Given the description of an element on the screen output the (x, y) to click on. 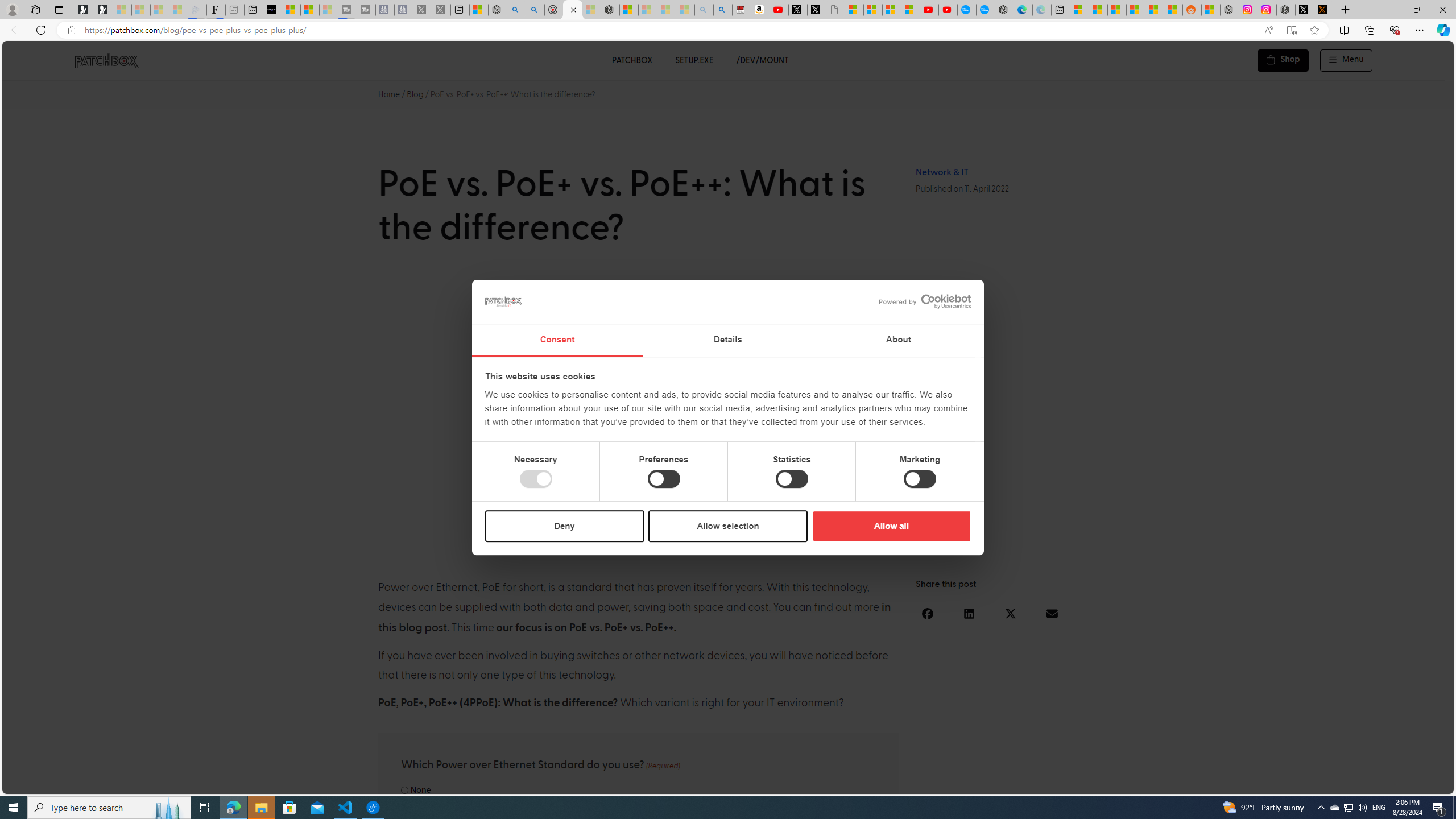
Language switcher : Slovenian (1333, 782)
SETUP.EXE (694, 60)
Blog (414, 94)
Share on email (1051, 613)
Language switcher : Spanish (1254, 782)
Language switcher : Czech (1413, 782)
Statistics (791, 479)
The most popular Google 'how to' searches (985, 9)
Day 1: Arriving in Yemen (surreal to be here) - YouTube (778, 9)
